Given the description of an element on the screen output the (x, y) to click on. 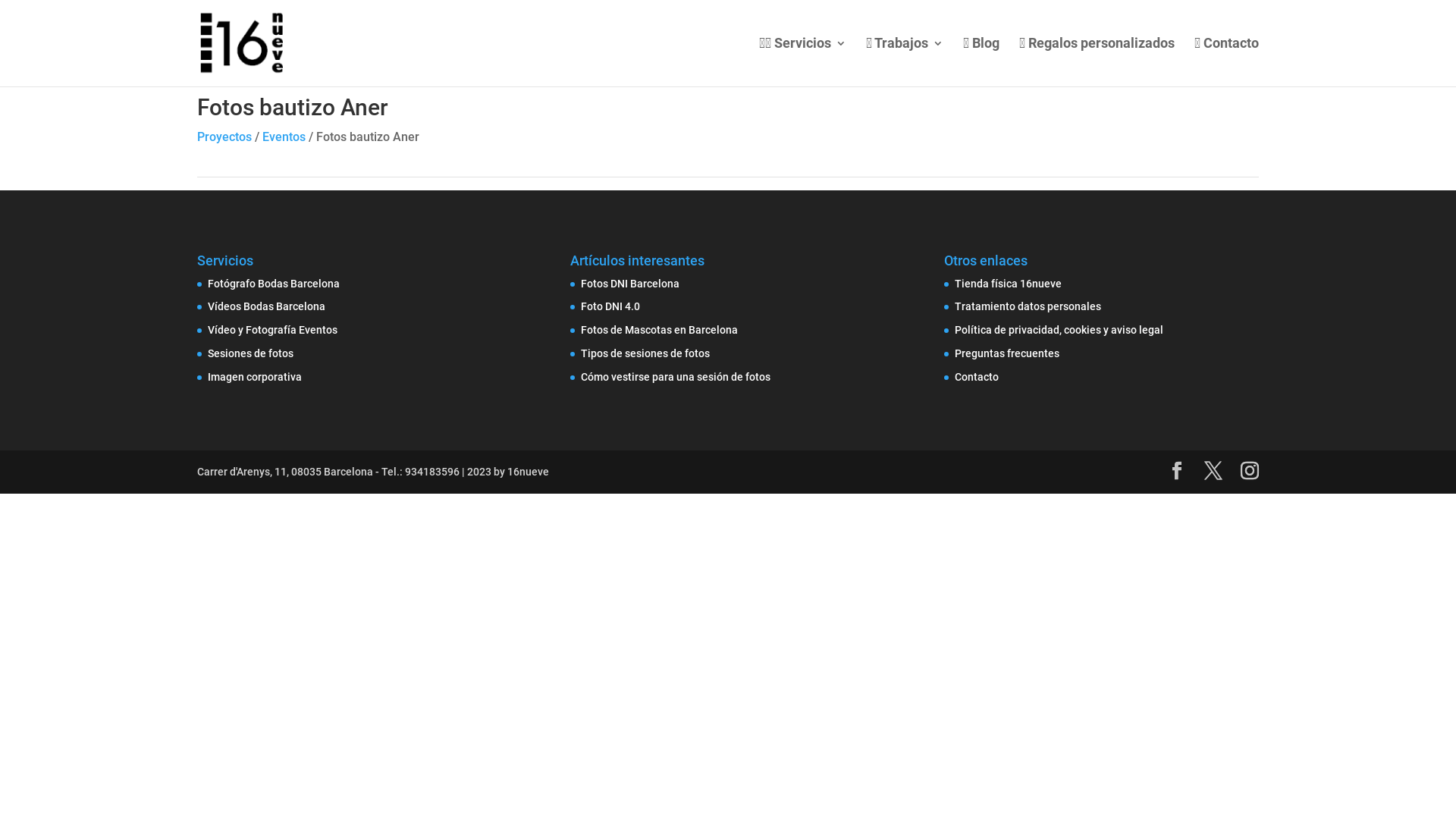
Preguntas frecuentes Element type: text (1006, 353)
Proyectos Element type: text (224, 136)
Fotos DNI Barcelona Element type: text (629, 283)
Sesiones de fotos Element type: text (250, 353)
Tratamiento datos personales Element type: text (1027, 306)
Foto DNI 4.0 Element type: text (610, 306)
Imagen corporativa Element type: text (254, 376)
Tipos de sesiones de fotos Element type: text (644, 353)
Eventos Element type: text (283, 136)
Contacto Element type: text (976, 376)
Fotos de Mascotas en Barcelona Element type: text (658, 329)
